Given the description of an element on the screen output the (x, y) to click on. 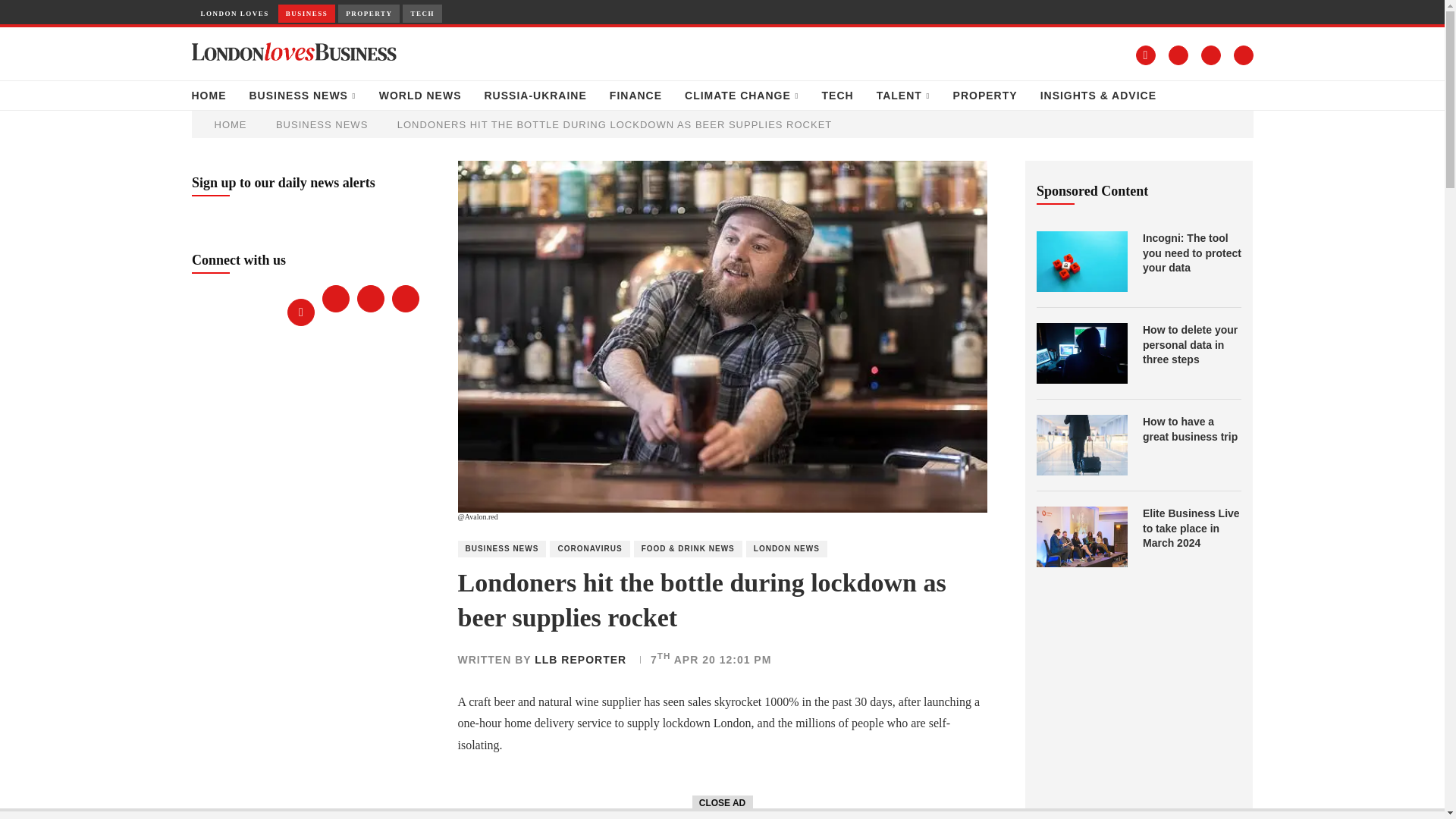
Incogni: The tool you need to protect your data (1191, 253)
Incogni: The tool you need to protect your data (1081, 260)
